Given the description of an element on the screen output the (x, y) to click on. 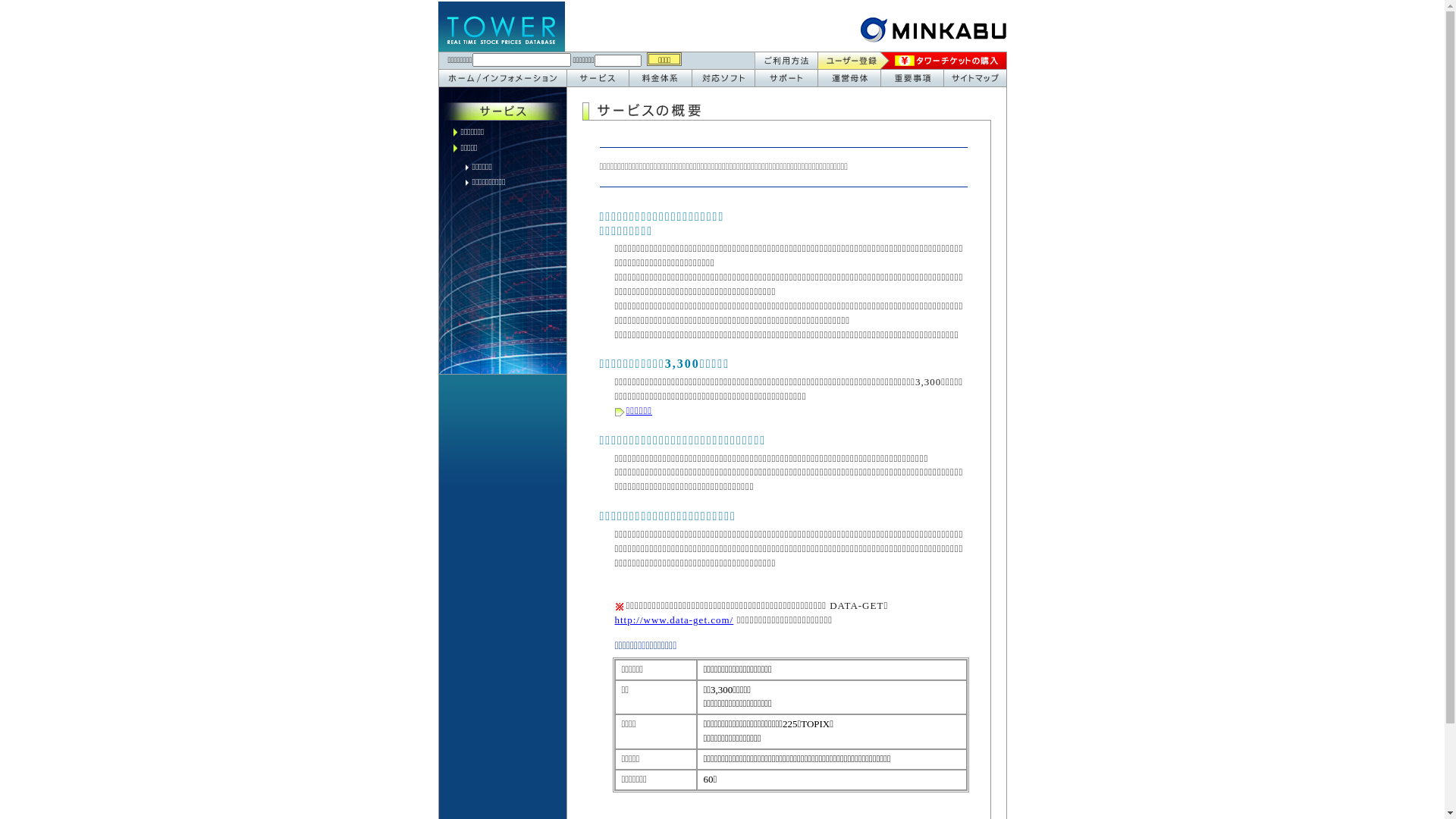
http://www.data-get.com/ Element type: text (673, 619)
